Given the description of an element on the screen output the (x, y) to click on. 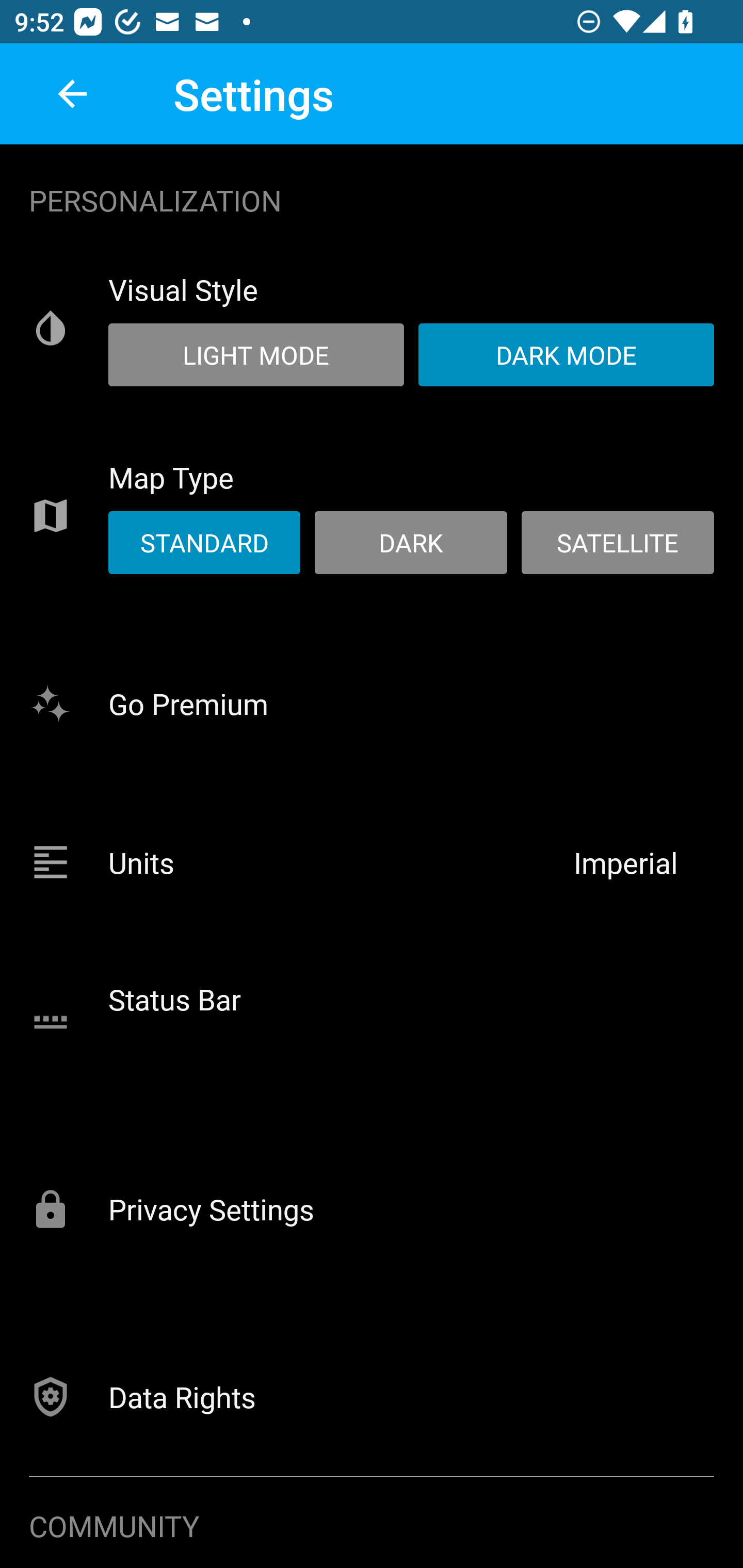
back (71, 93)
LIGHT MODE (256, 354)
DARK MODE (566, 354)
STANDARD (204, 542)
DARK (411, 542)
SATELLITE (617, 542)
Go Premium (371, 703)
Units Imperial (371, 862)
Status Bar (371, 1021)
Privacy Settings (371, 1208)
Data Rights (371, 1396)
